Given the description of an element on the screen output the (x, y) to click on. 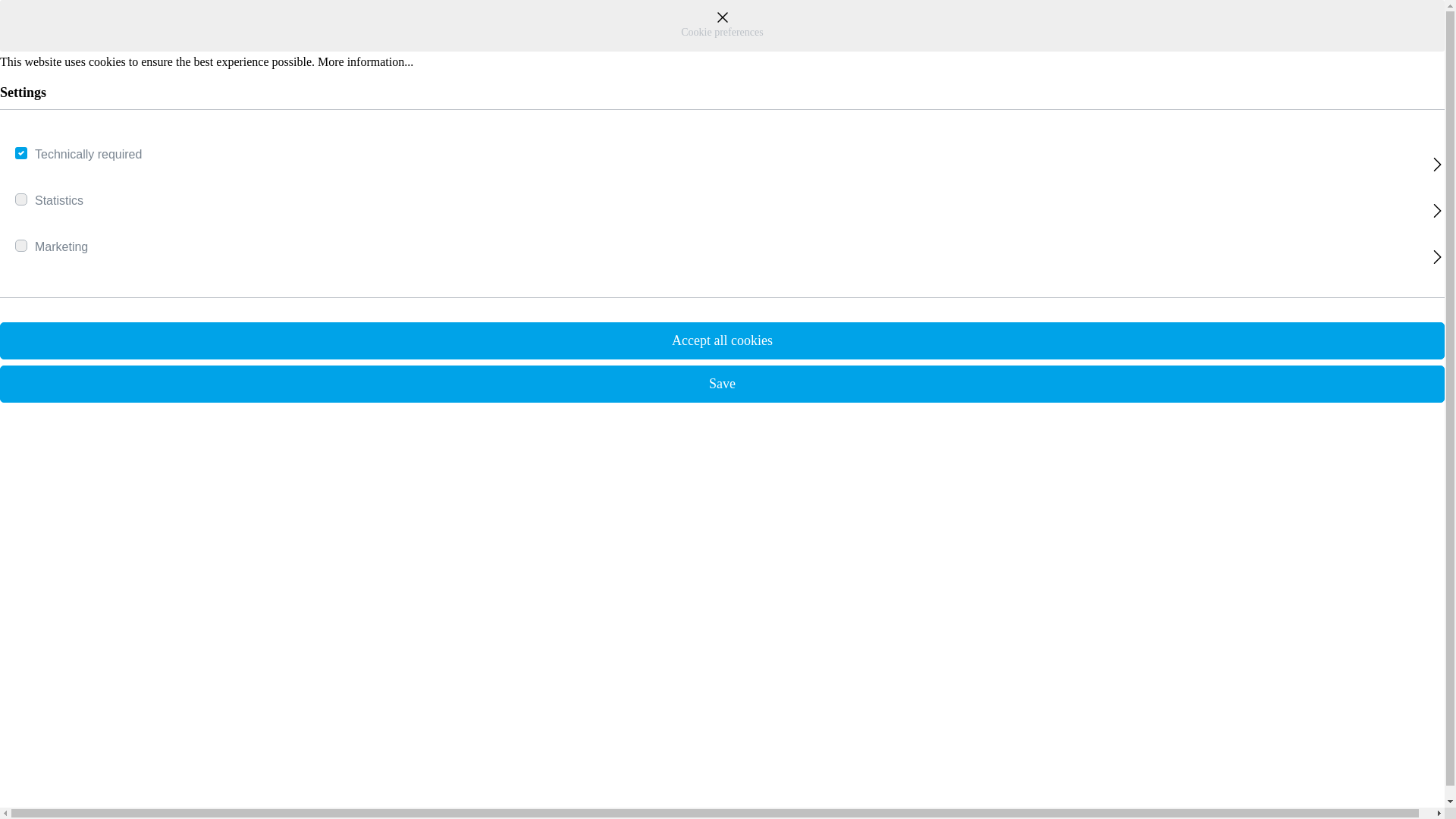
Accept all cookies (722, 340)
Save (722, 383)
Cookie preferences (722, 25)
More information (365, 61)
More information... (365, 61)
